Given the description of an element on the screen output the (x, y) to click on. 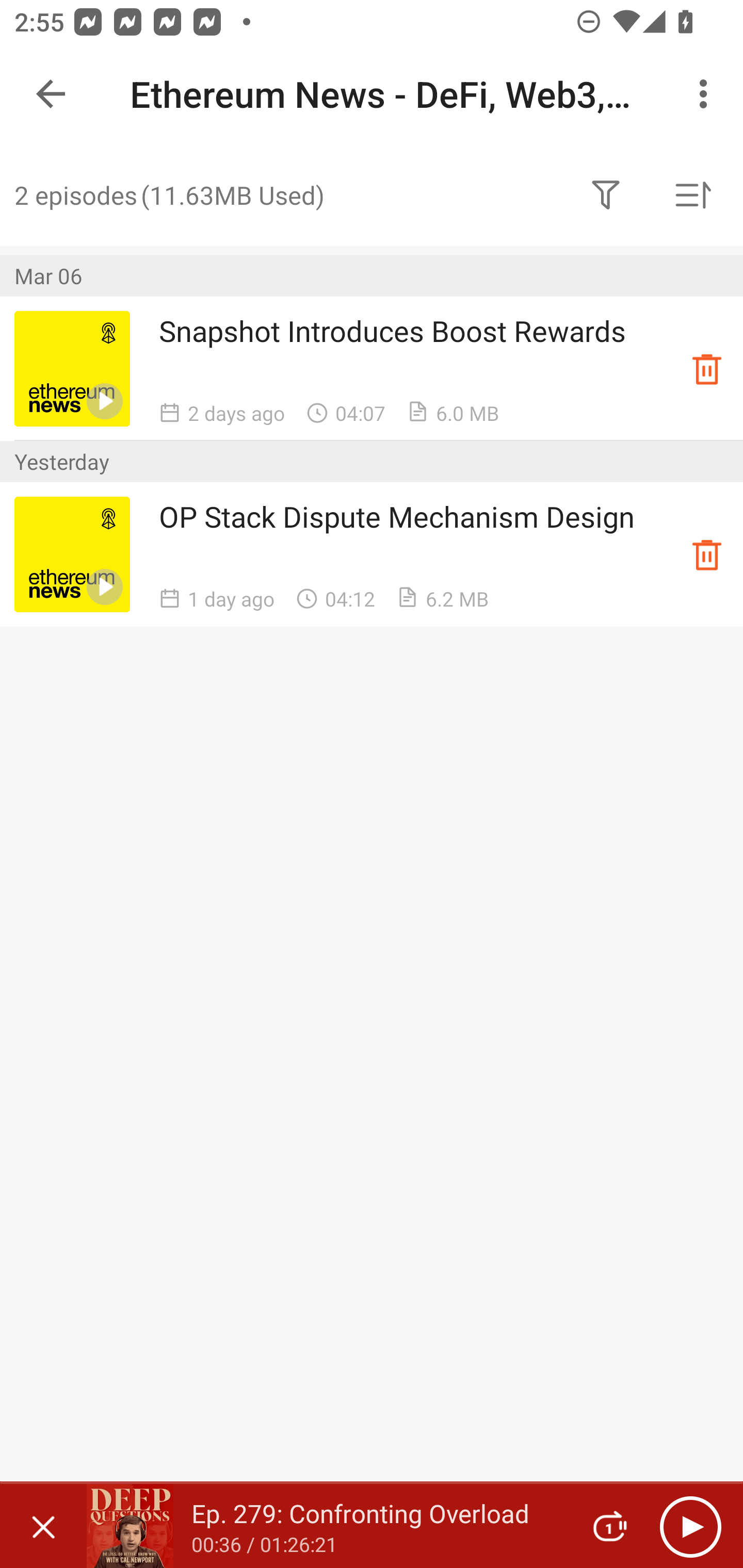
Navigate up (50, 93)
More options (706, 93)
 (605, 195)
 Sorted by oldest first (692, 195)
Download (706, 368)
Download (706, 554)
Ep. 279: Confronting Overload 00:36 / 01:26:21 (326, 1525)
Play (690, 1526)
